Given the description of an element on the screen output the (x, y) to click on. 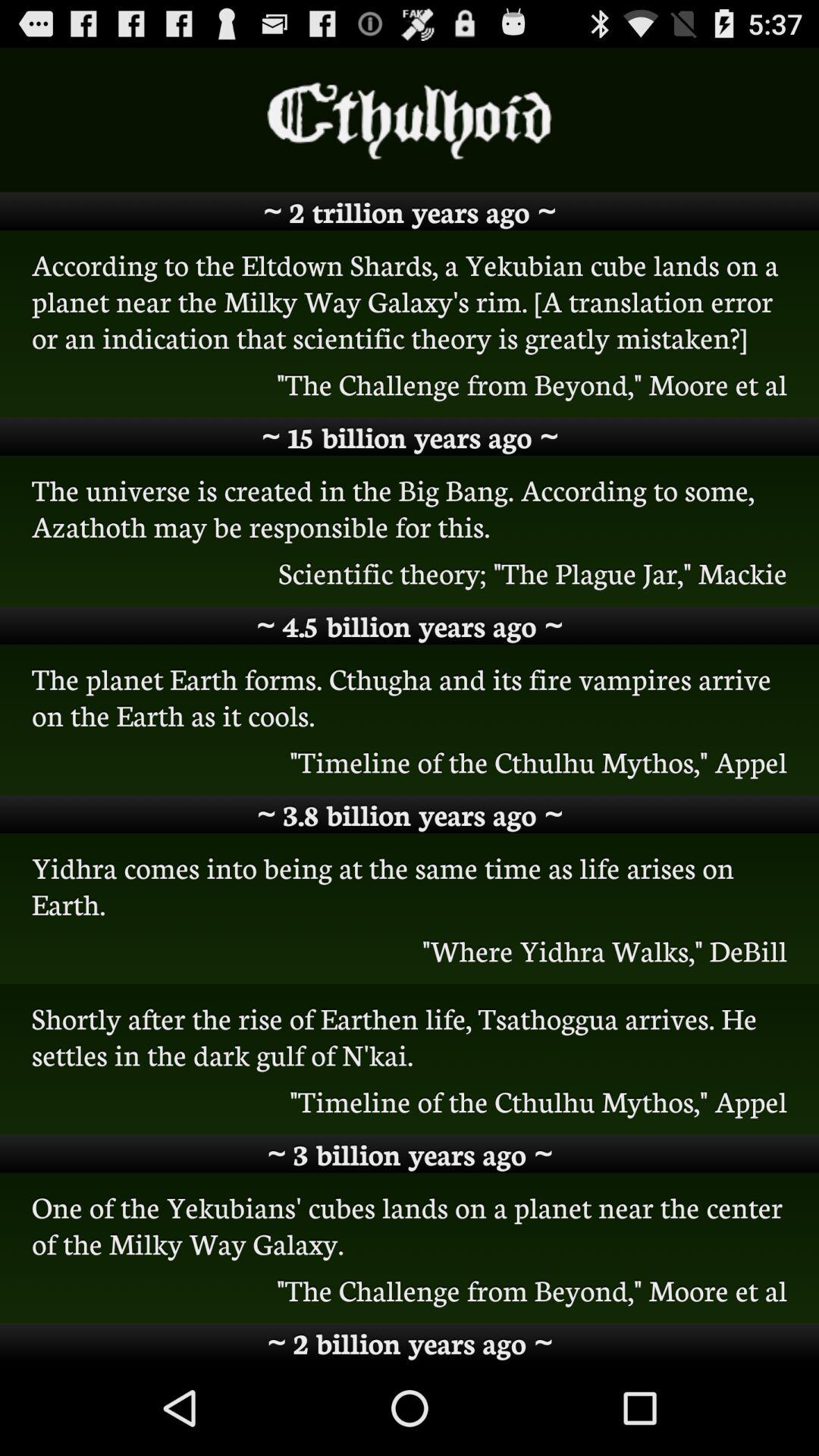
turn on 3 8 billion (409, 814)
